Given the description of an element on the screen output the (x, y) to click on. 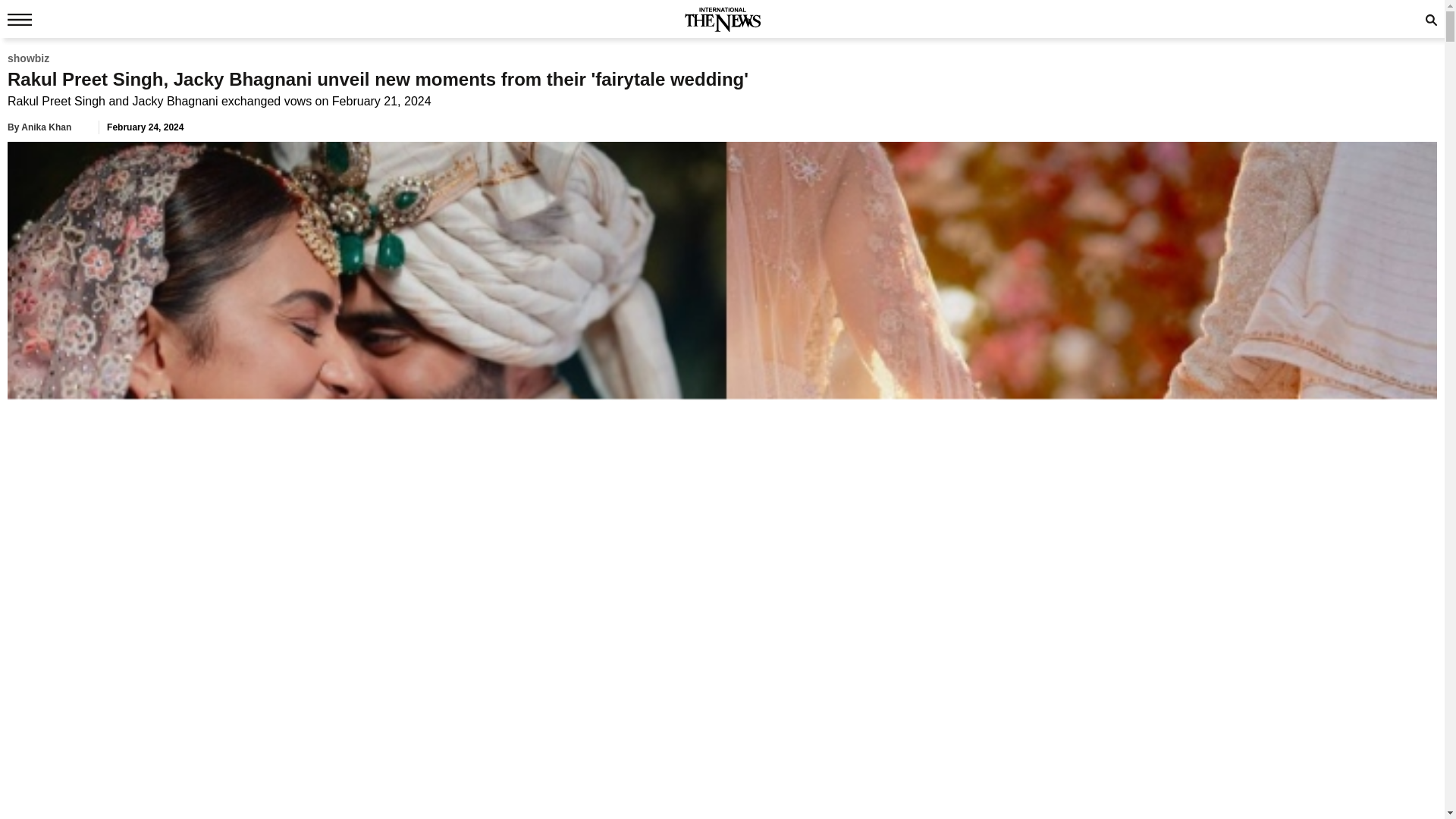
showbiz (28, 58)
